Given the description of an element on the screen output the (x, y) to click on. 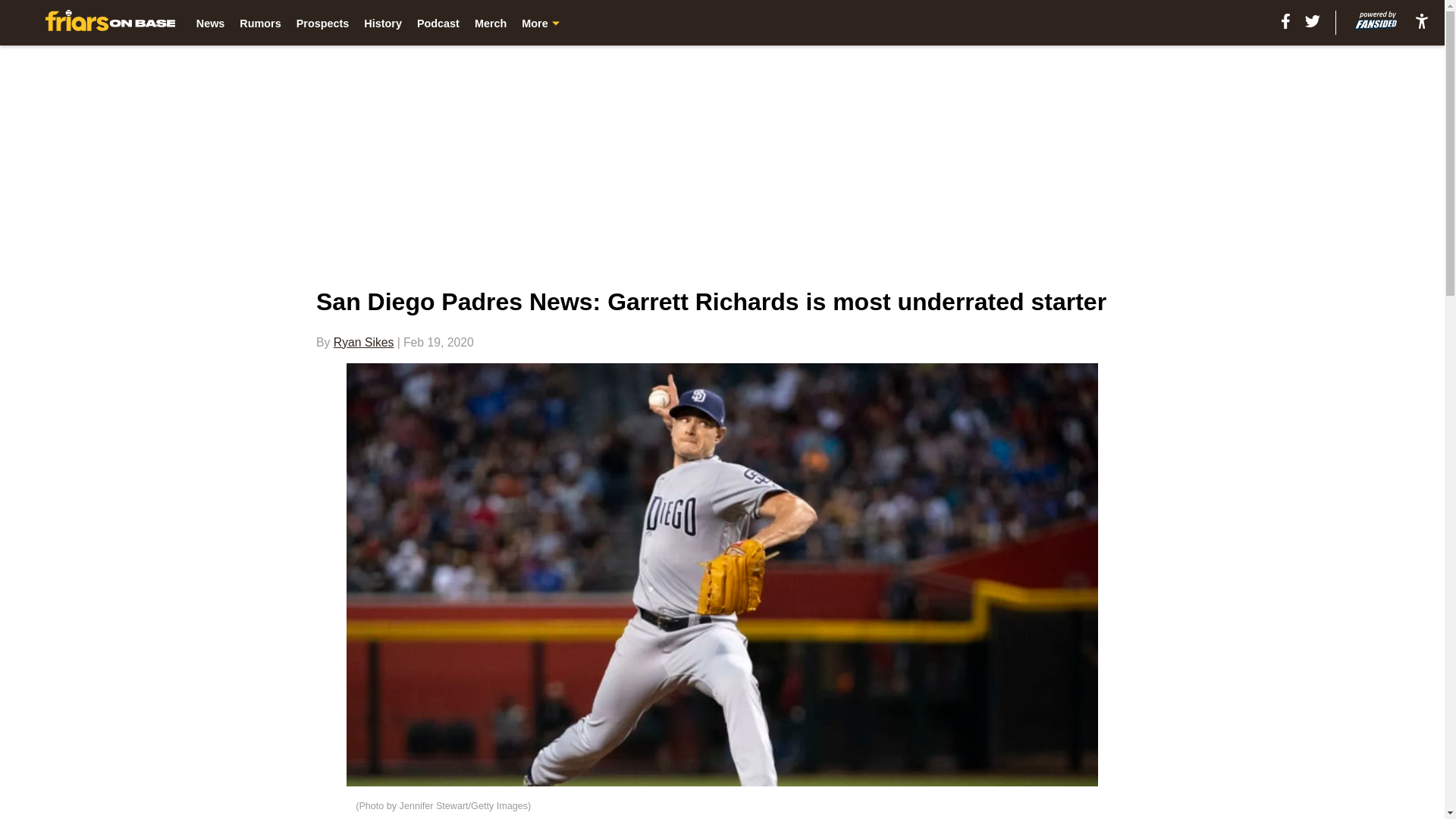
Merch (490, 23)
Prospects (323, 23)
History (382, 23)
Rumors (260, 23)
Podcast (438, 23)
News (210, 23)
Ryan Sikes (363, 341)
